Given the description of an element on the screen output the (x, y) to click on. 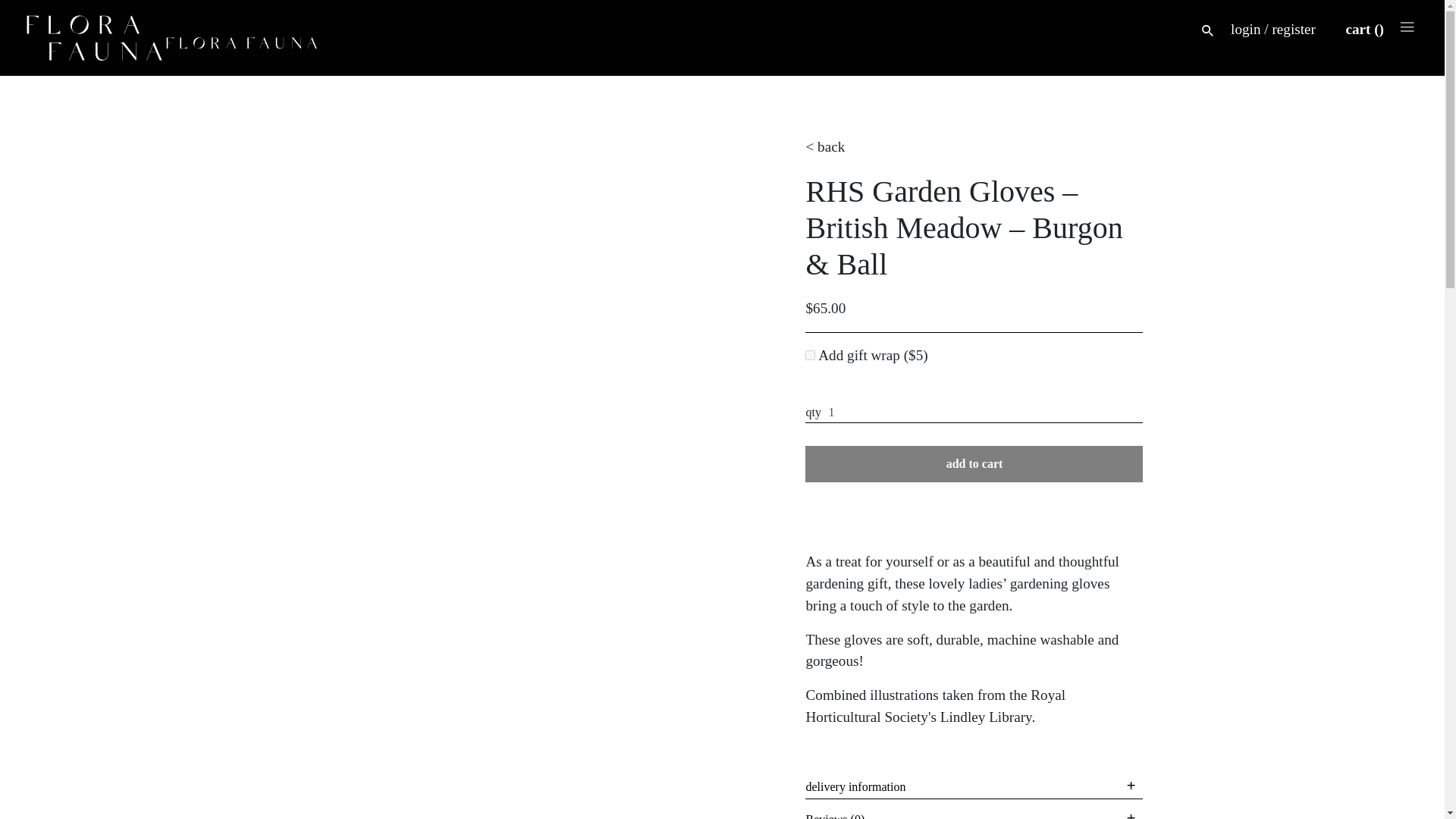
add to cart (973, 463)
1 (973, 412)
yes (810, 355)
